Given the description of an element on the screen output the (x, y) to click on. 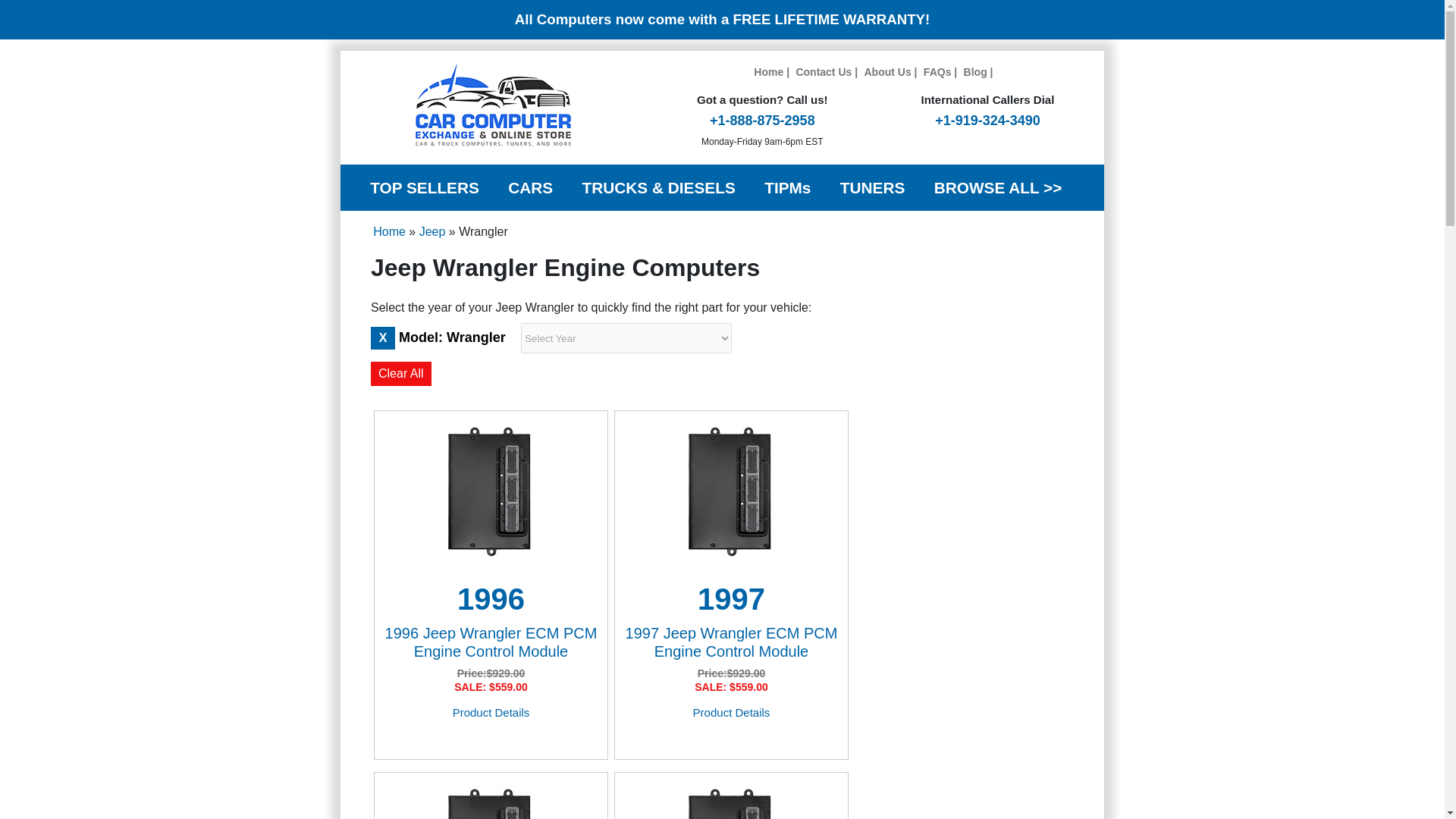
Contact Us (822, 71)
About Us (887, 71)
FAQs (937, 71)
TOP SELLERS (424, 187)
Car Modules (530, 187)
Best Selling Products (768, 71)
Car Modules (424, 187)
TIPMs (787, 187)
Blog (975, 71)
Customer Service (822, 71)
